Given the description of an element on the screen output the (x, y) to click on. 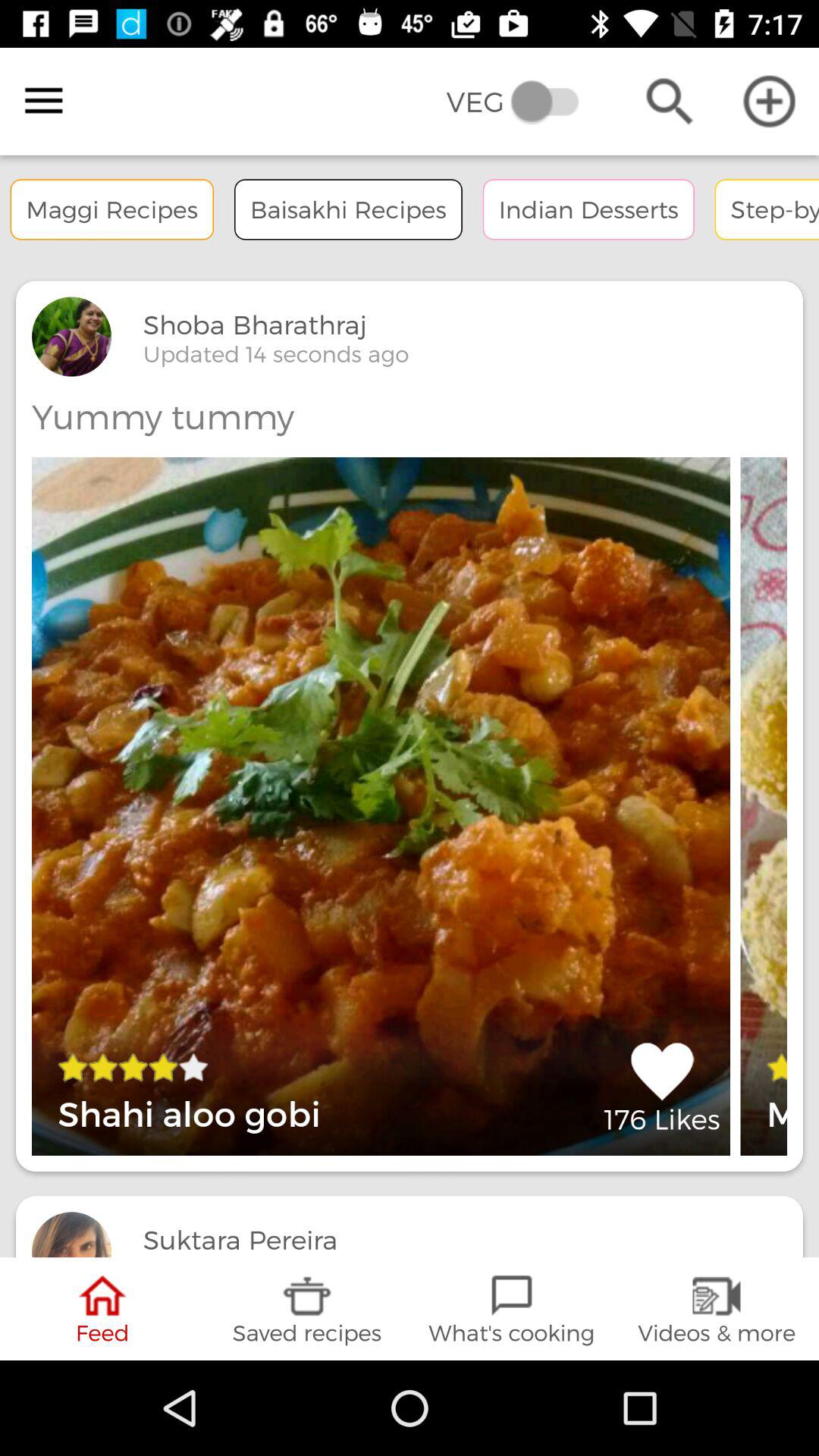
click item next to the videos & more icon (511, 1308)
